Given the description of an element on the screen output the (x, y) to click on. 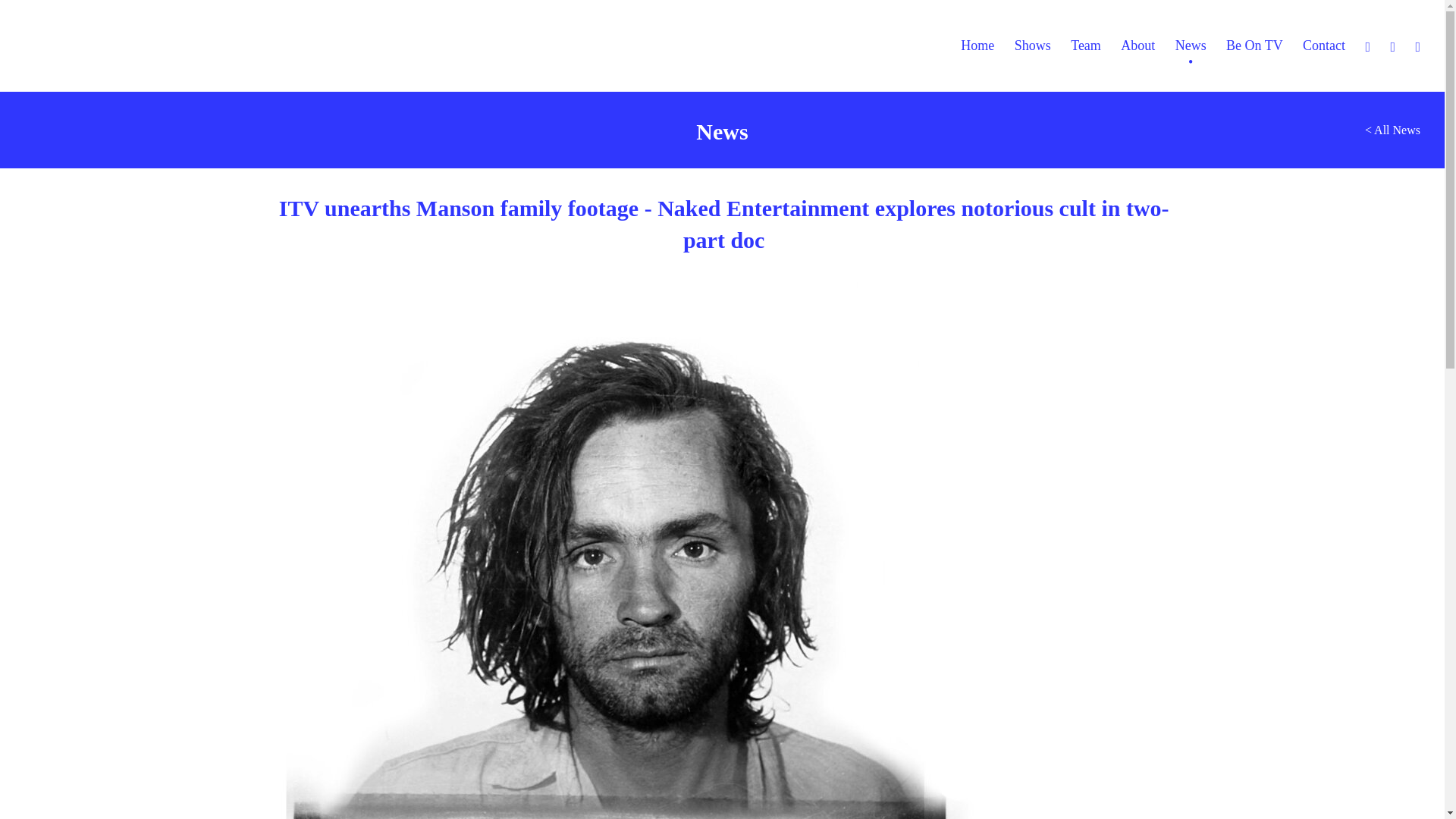
News (1190, 45)
Team (1085, 45)
Home (977, 45)
Be On TV (1253, 45)
About (1137, 45)
Shows (1032, 45)
Contact (1324, 45)
